Given the description of an element on the screen output the (x, y) to click on. 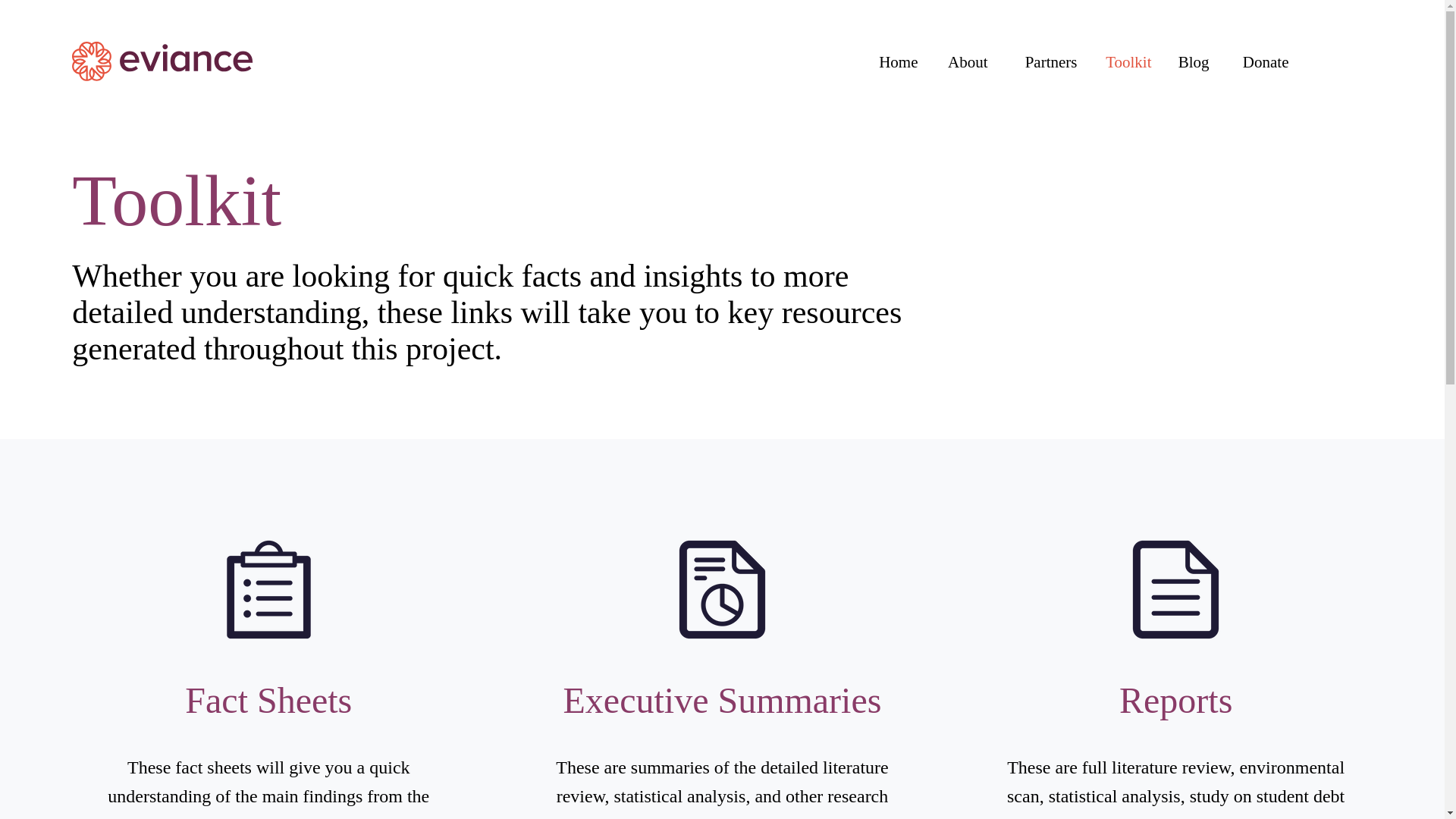
Donate (1260, 62)
Toolkit (1126, 62)
About (964, 62)
Blog (1192, 62)
Partners (1043, 62)
Home (895, 62)
